Given the description of an element on the screen output the (x, y) to click on. 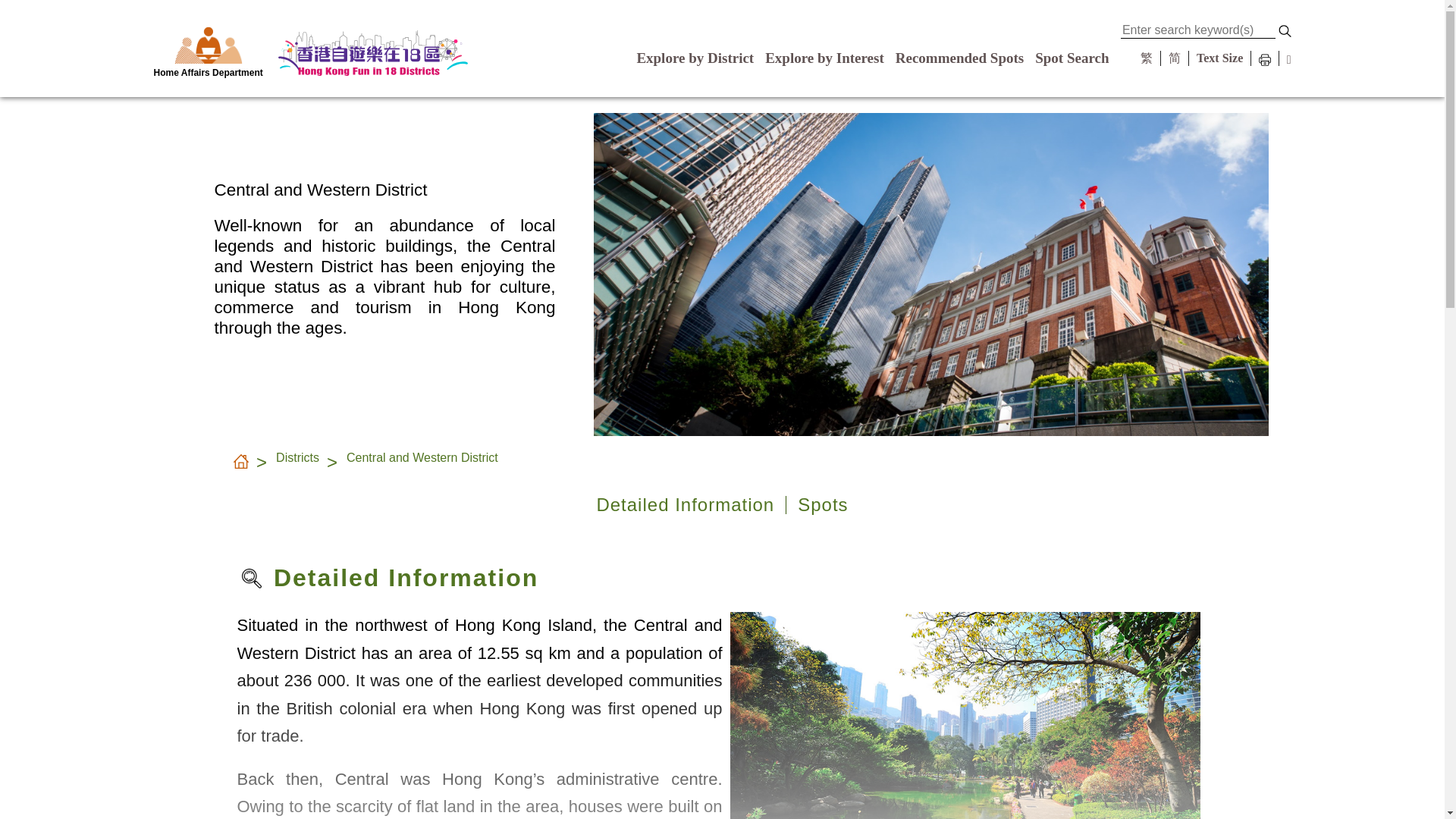
Home Affairs Department (207, 49)
Recommended Spots (959, 57)
Text Size (1219, 57)
Spot Search (1071, 57)
